Given the description of an element on the screen output the (x, y) to click on. 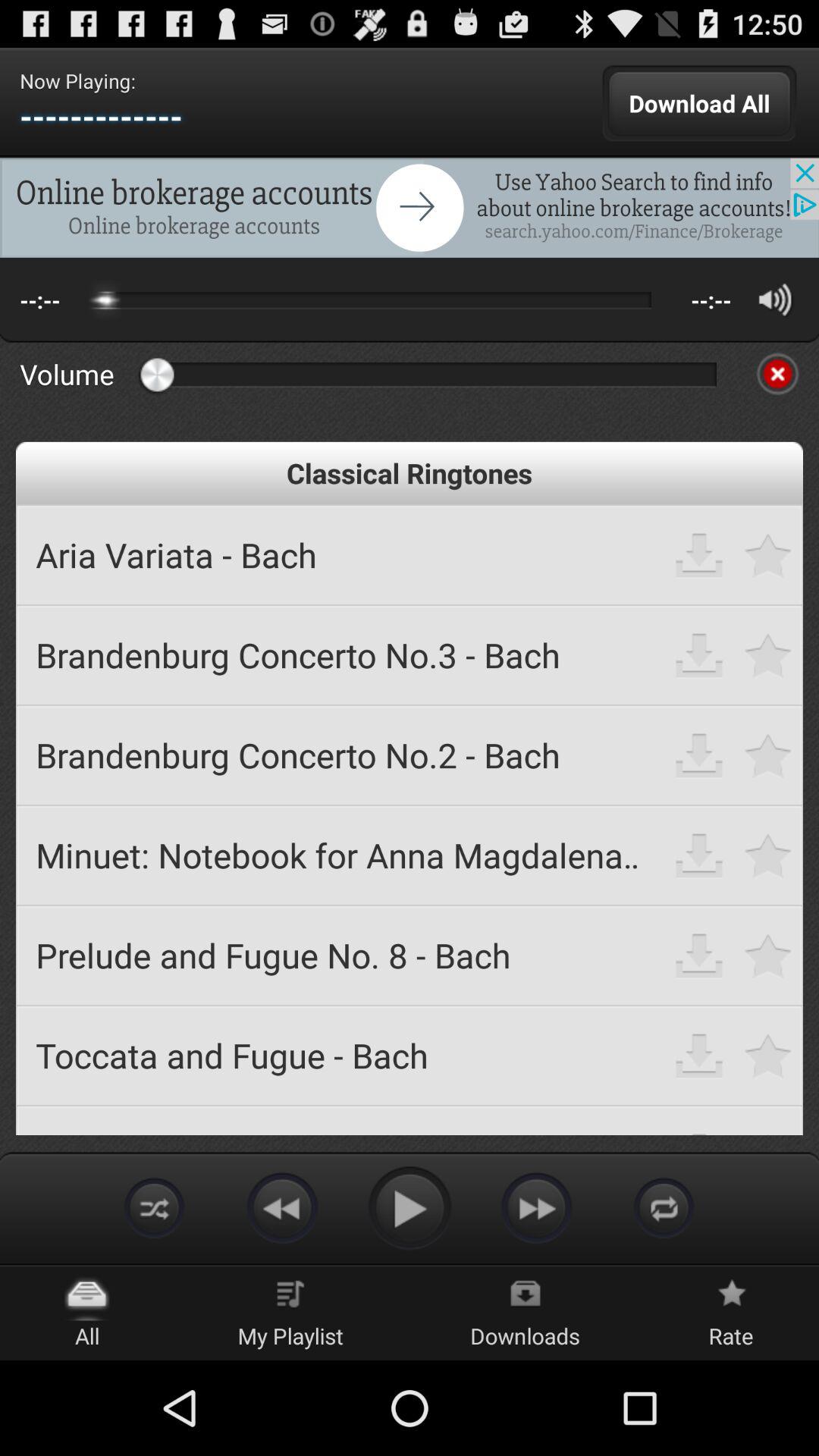
shuffle toggle (154, 1207)
